Given the description of an element on the screen output the (x, y) to click on. 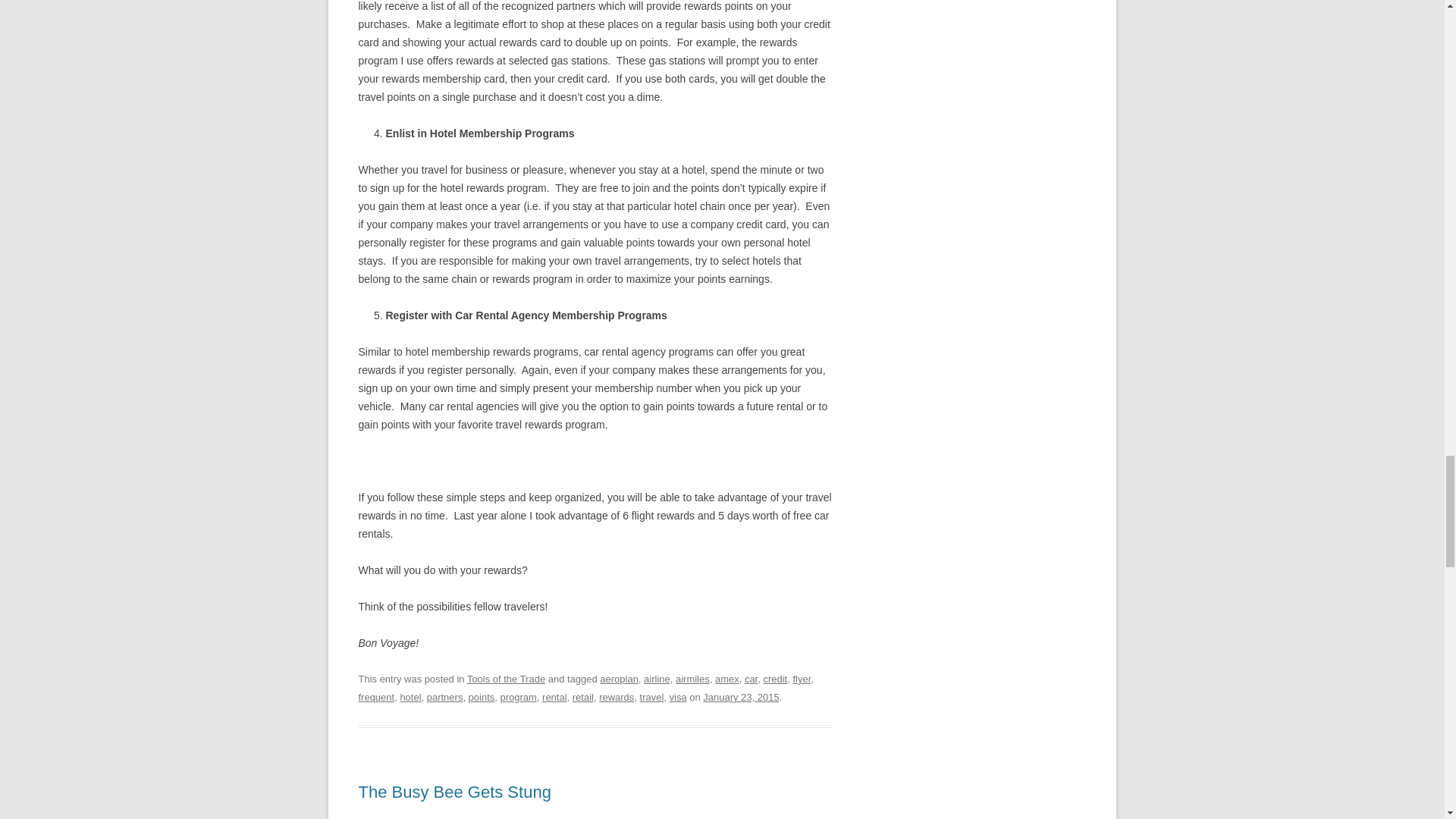
aeroplan (619, 678)
3:41 pm (740, 696)
airline (656, 678)
airmiles (692, 678)
Tools of the Trade (505, 678)
car (750, 678)
credit (774, 678)
amex (726, 678)
